Given the description of an element on the screen output the (x, y) to click on. 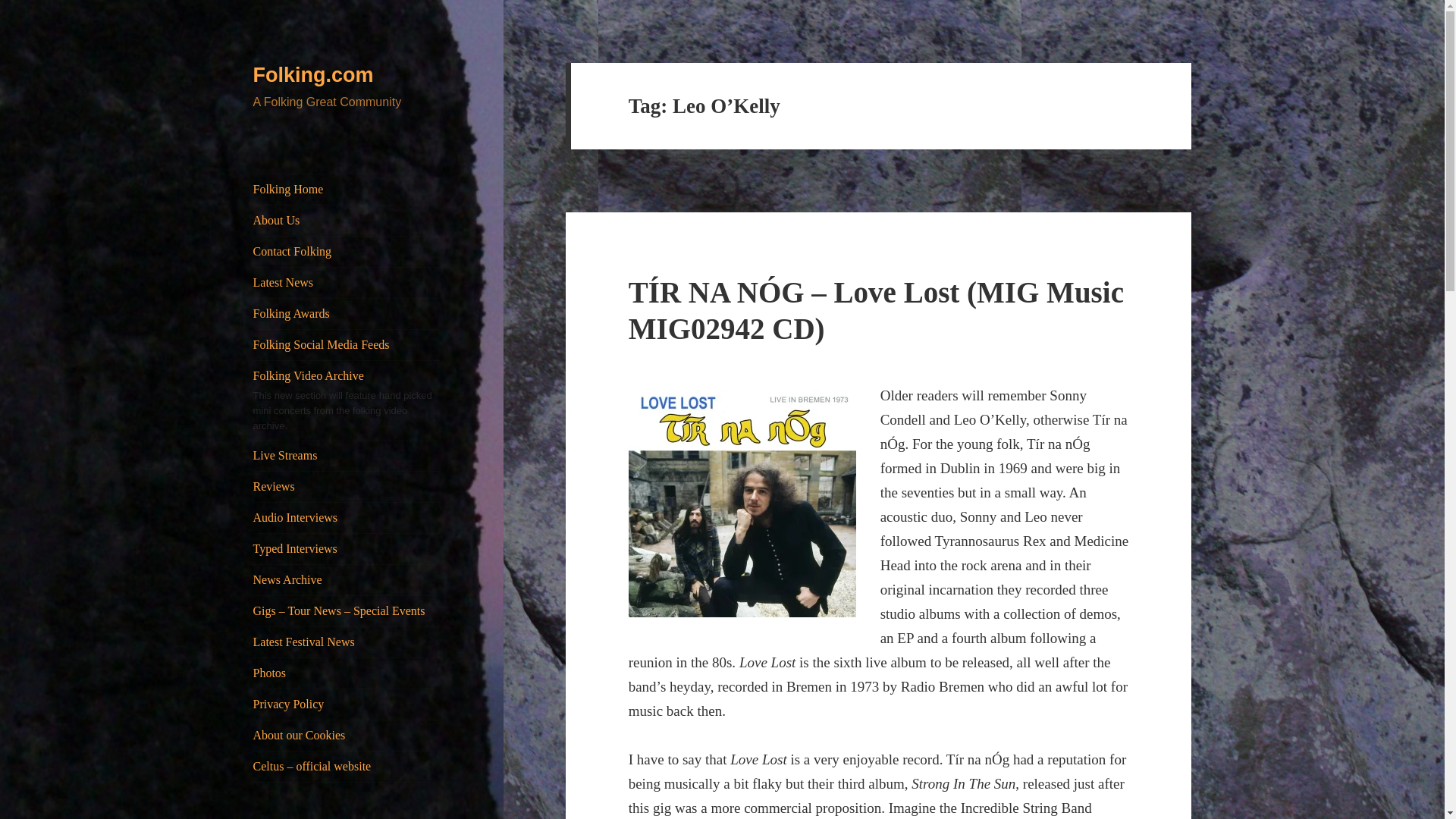
About our Cookies (347, 735)
Audio Interviews (347, 517)
About Us (347, 220)
Privacy Policy (347, 704)
Latest News (347, 282)
Typed Interviews (347, 548)
News Archive (347, 580)
Latest Festival News (347, 642)
Folking Social Media Feeds (347, 345)
